Given the description of an element on the screen output the (x, y) to click on. 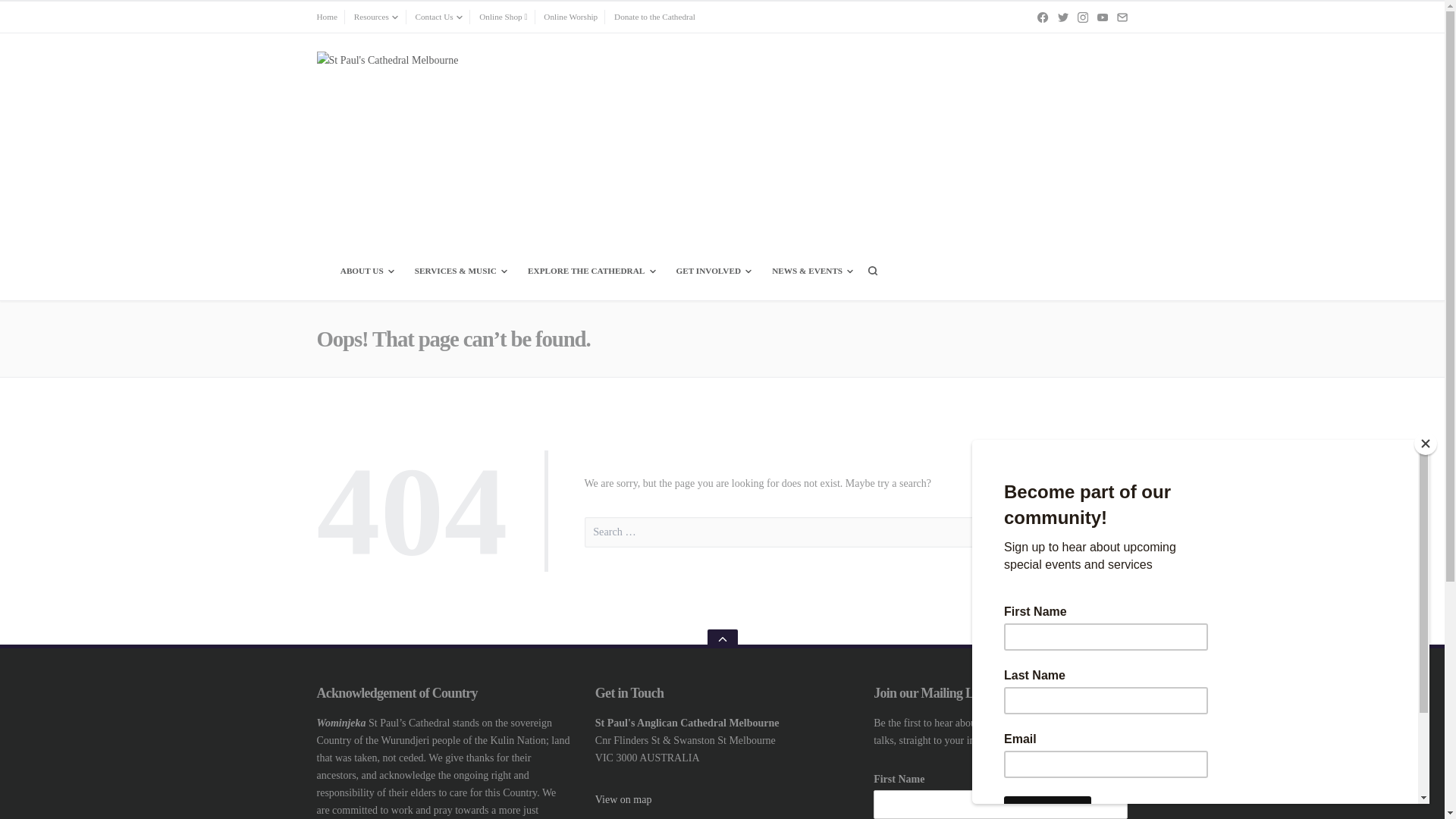
Search Element type: text (1098, 532)
GO TO THE TOP Element type: text (721, 638)
Donate to the Cathedral Element type: text (654, 16)
Instagram Element type: text (1082, 16)
EXPLORE THE CATHEDRAL Element type: text (590, 271)
ABOUT US Element type: text (366, 271)
NEWS & EVENTS Element type: text (810, 271)
Email Element type: text (1122, 16)
Resources Element type: text (376, 16)
St Paul's Cathedral Melbourne Element type: text (421, 275)
Contact Us Element type: text (438, 16)
OPEN A SEARCH BOX Element type: text (872, 270)
View on map Element type: text (623, 799)
Home Element type: text (326, 16)
SERVICES & MUSIC Element type: text (459, 271)
Online Worship Element type: text (570, 16)
GET INVOLVED Element type: text (713, 271)
Youtube Element type: text (1102, 16)
Facebook Element type: text (1042, 16)
Twitter Element type: text (1062, 16)
